Given the description of an element on the screen output the (x, y) to click on. 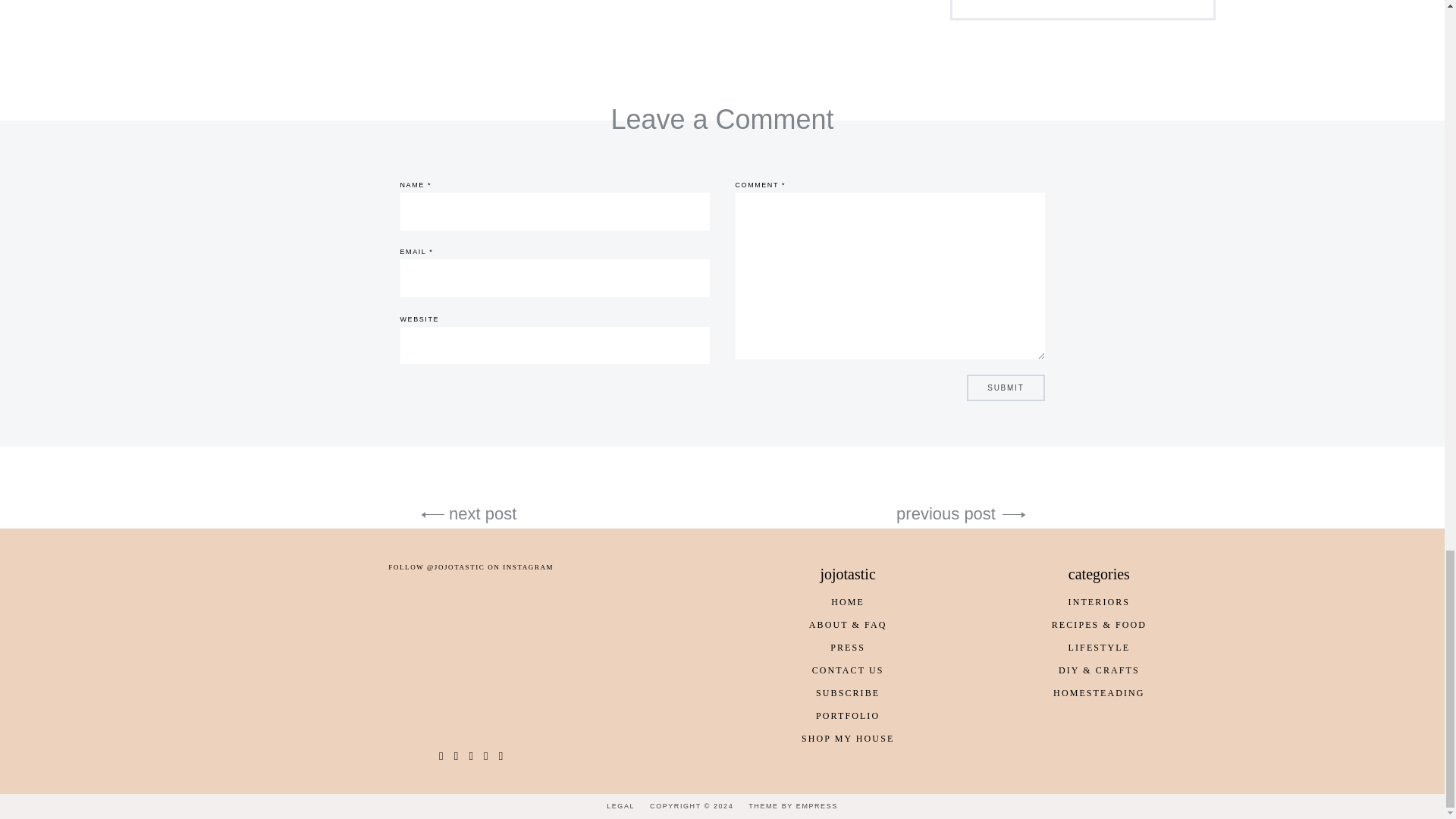
Submit (1004, 387)
